Given the description of an element on the screen output the (x, y) to click on. 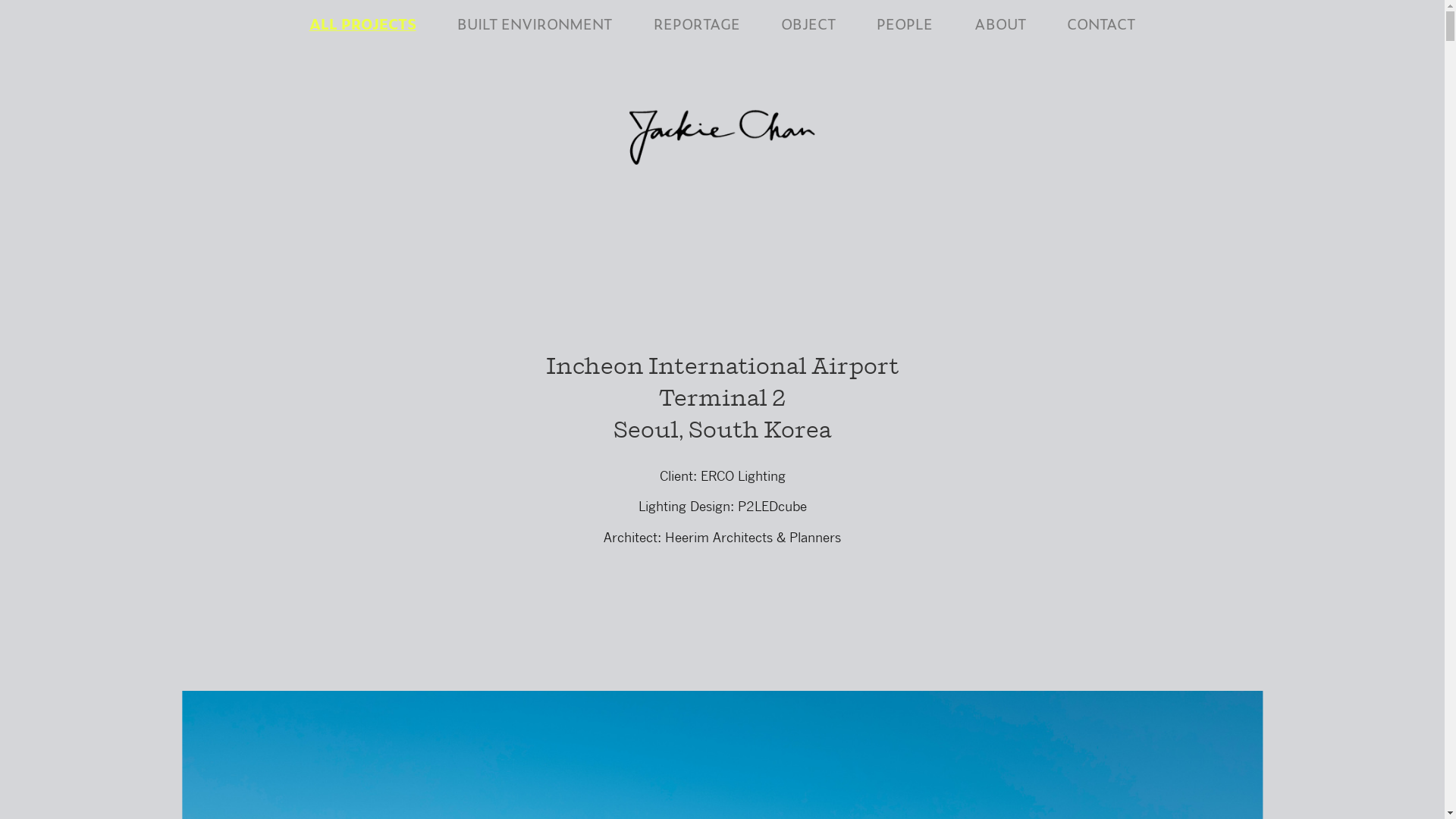
PEOPLE Element type: text (904, 23)
CONTACT Element type: text (1100, 23)
ABOUT Element type: text (1000, 23)
ALL PROJECTS Element type: text (362, 23)
BUILT ENVIRONMENT Element type: text (534, 23)
REPORTAGE Element type: text (696, 23)
OBJECT Element type: text (808, 23)
